Given the description of an element on the screen output the (x, y) to click on. 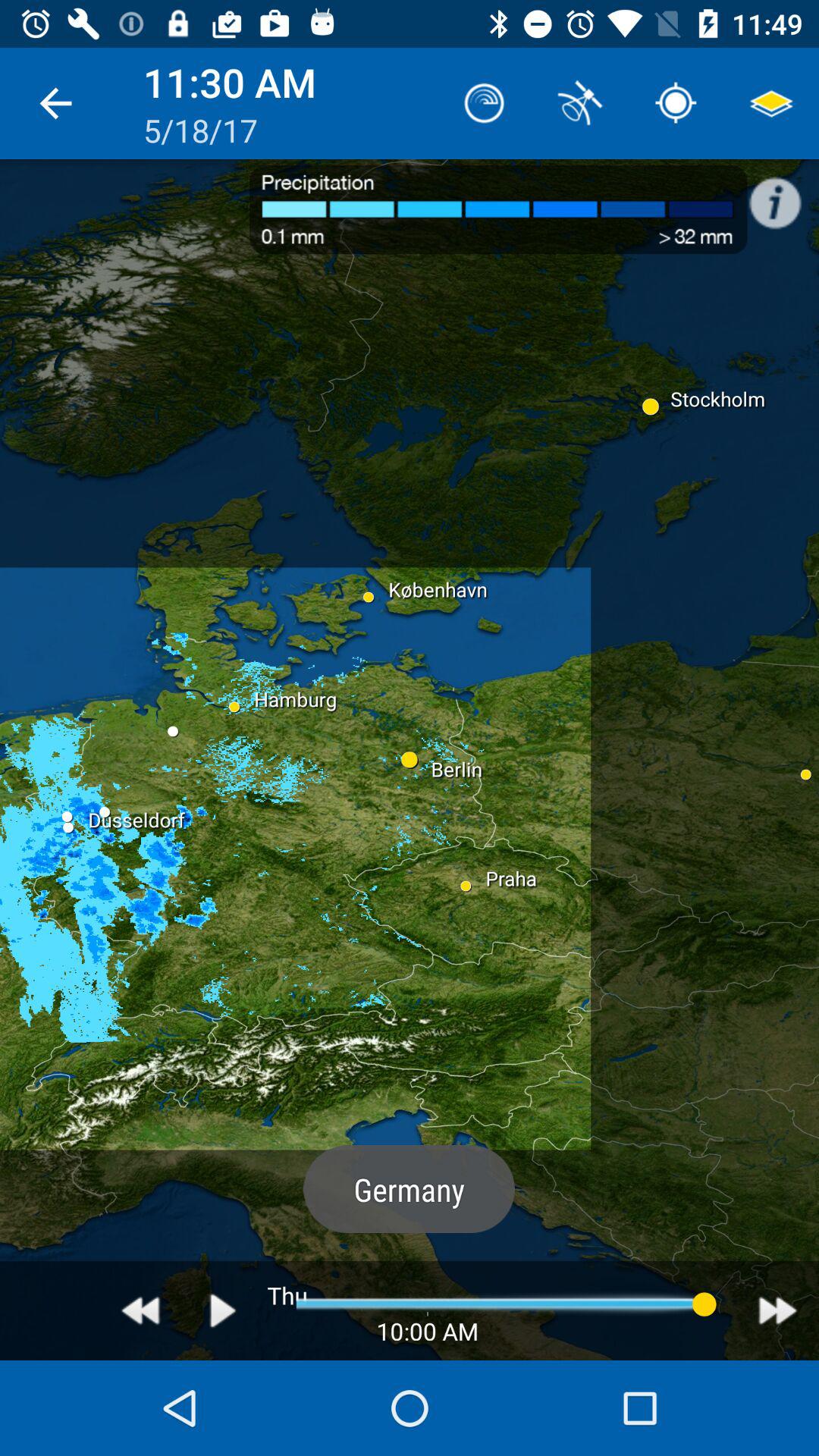
launch icon at the bottom right corner (777, 1310)
